Given the description of an element on the screen output the (x, y) to click on. 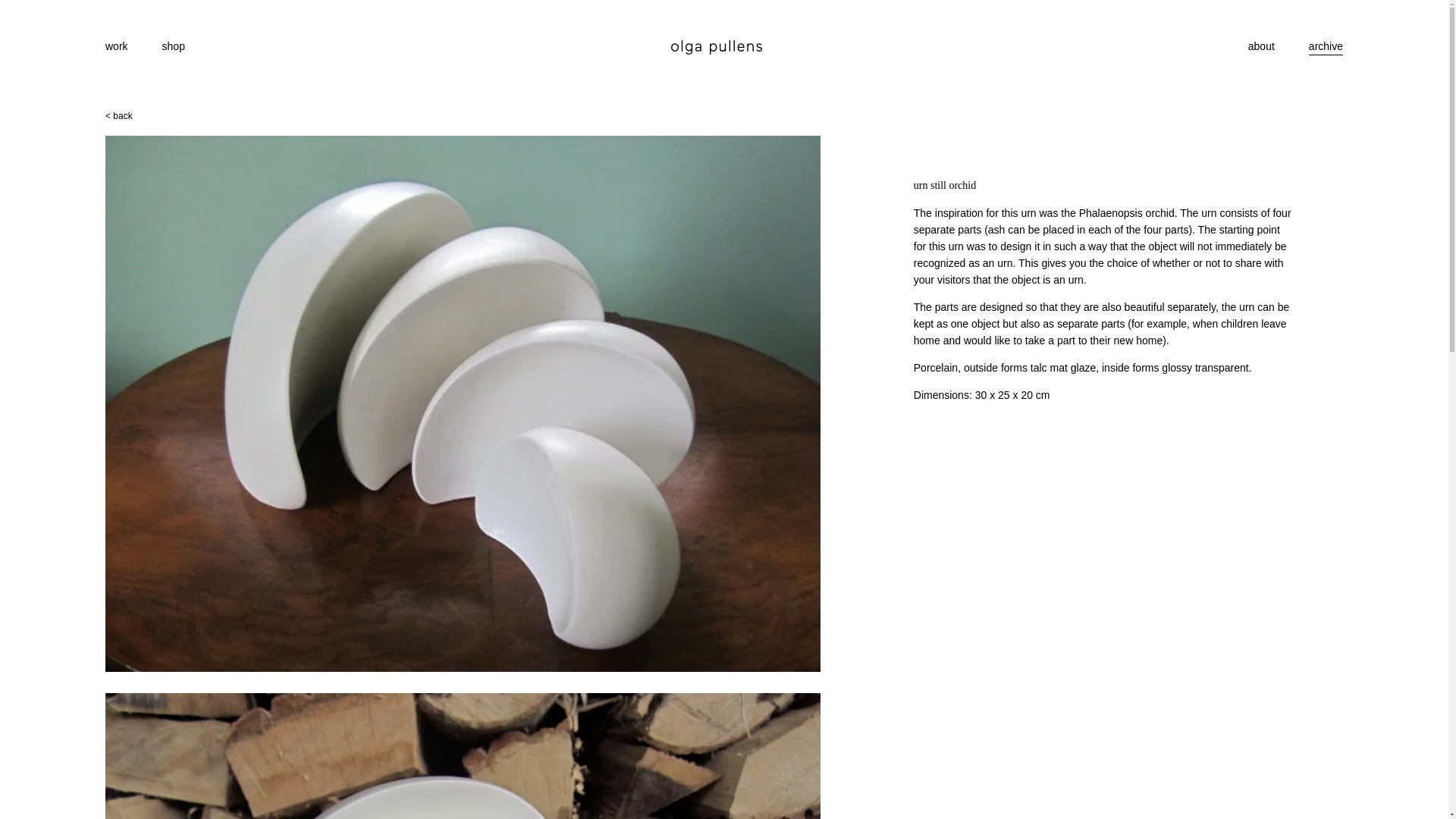
about (1261, 45)
Work (116, 45)
Archive (1325, 45)
Shop (172, 45)
About (1261, 45)
work (116, 45)
shop (172, 45)
archive (1325, 45)
